Given the description of an element on the screen output the (x, y) to click on. 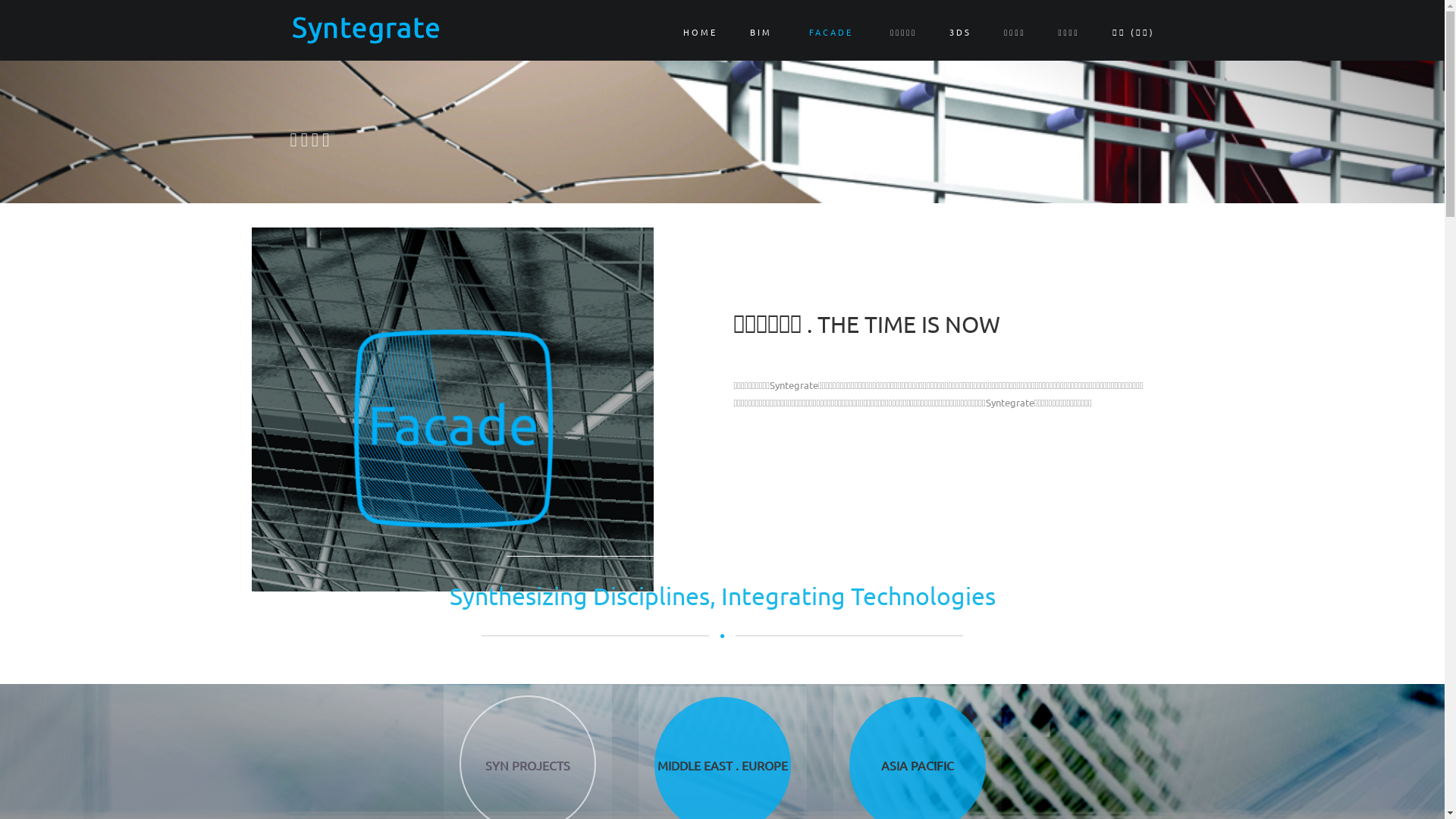
BIM Element type: text (763, 34)
3DS Element type: text (961, 34)
FACADE Element type: text (834, 34)
HOME Element type: text (701, 34)
